Given the description of an element on the screen output the (x, y) to click on. 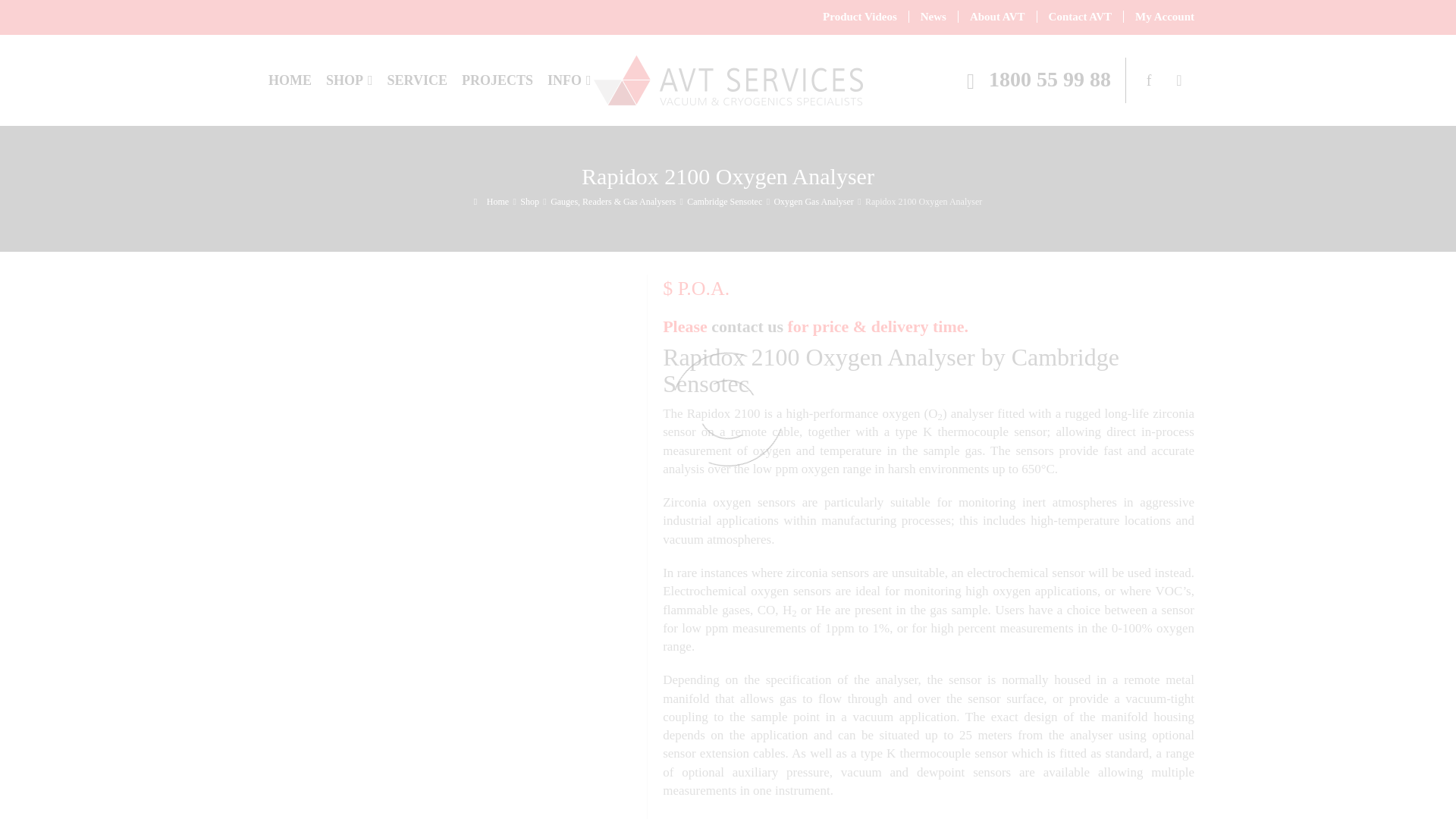
Product Videos (859, 16)
News (933, 16)
PROJECTS (497, 80)
About AVT (997, 16)
Contact AVT (1080, 16)
My Account (1158, 16)
1800 55 99 88 (1034, 81)
AVT Services (726, 79)
